Given the description of an element on the screen output the (x, y) to click on. 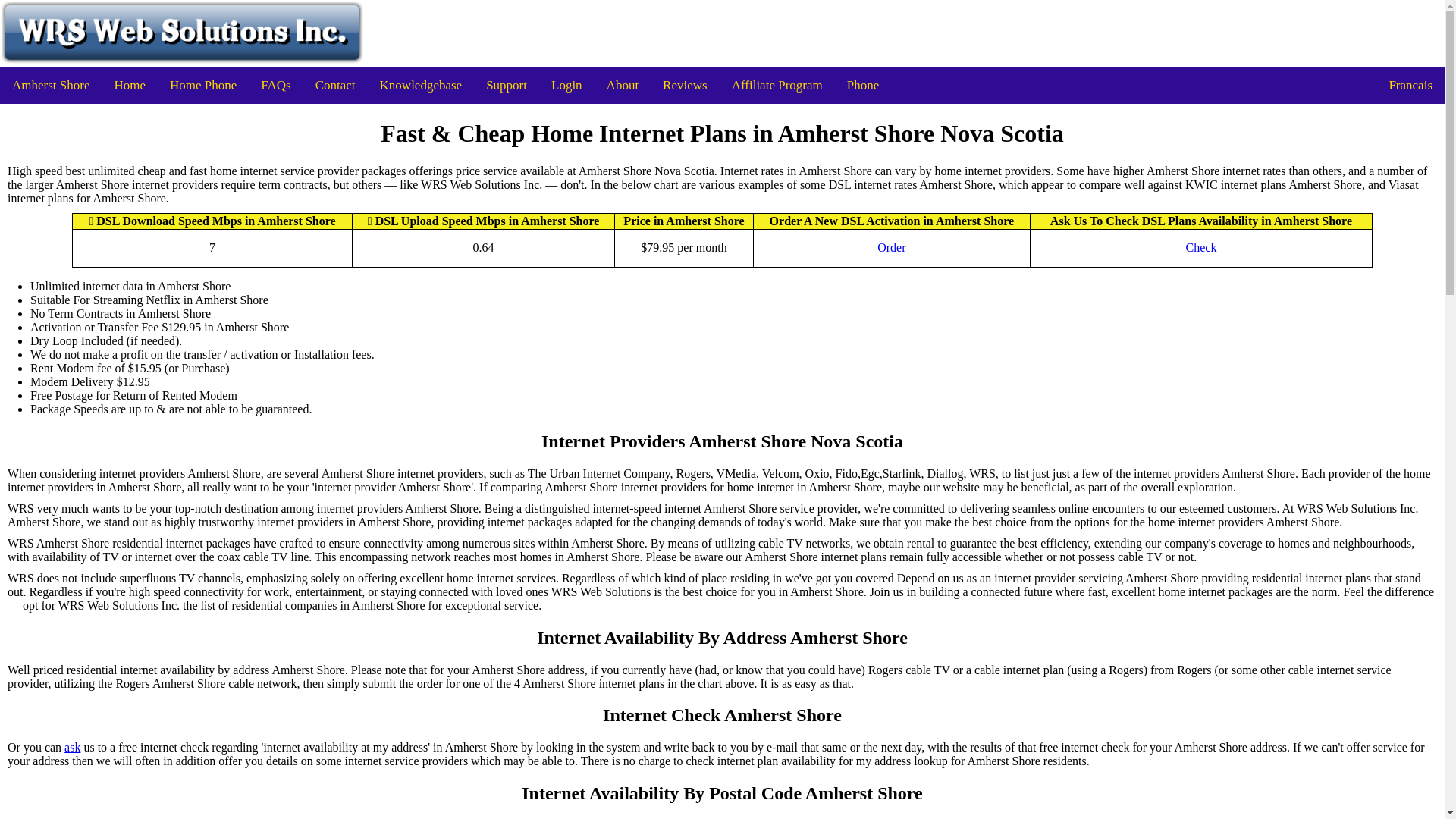
Reviews (684, 85)
Support (506, 85)
ask (72, 747)
Phone (862, 85)
Home Phone (202, 85)
Contact (335, 85)
About (622, 85)
Login (566, 85)
Check (1201, 247)
Affiliate Program (776, 85)
